Given the description of an element on the screen output the (x, y) to click on. 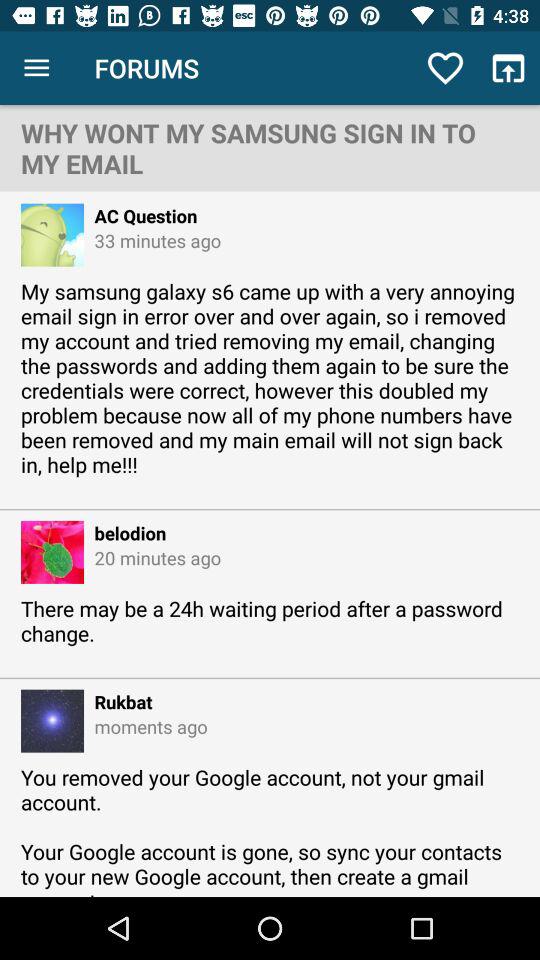
turn on item to the left of forums (36, 68)
